Given the description of an element on the screen output the (x, y) to click on. 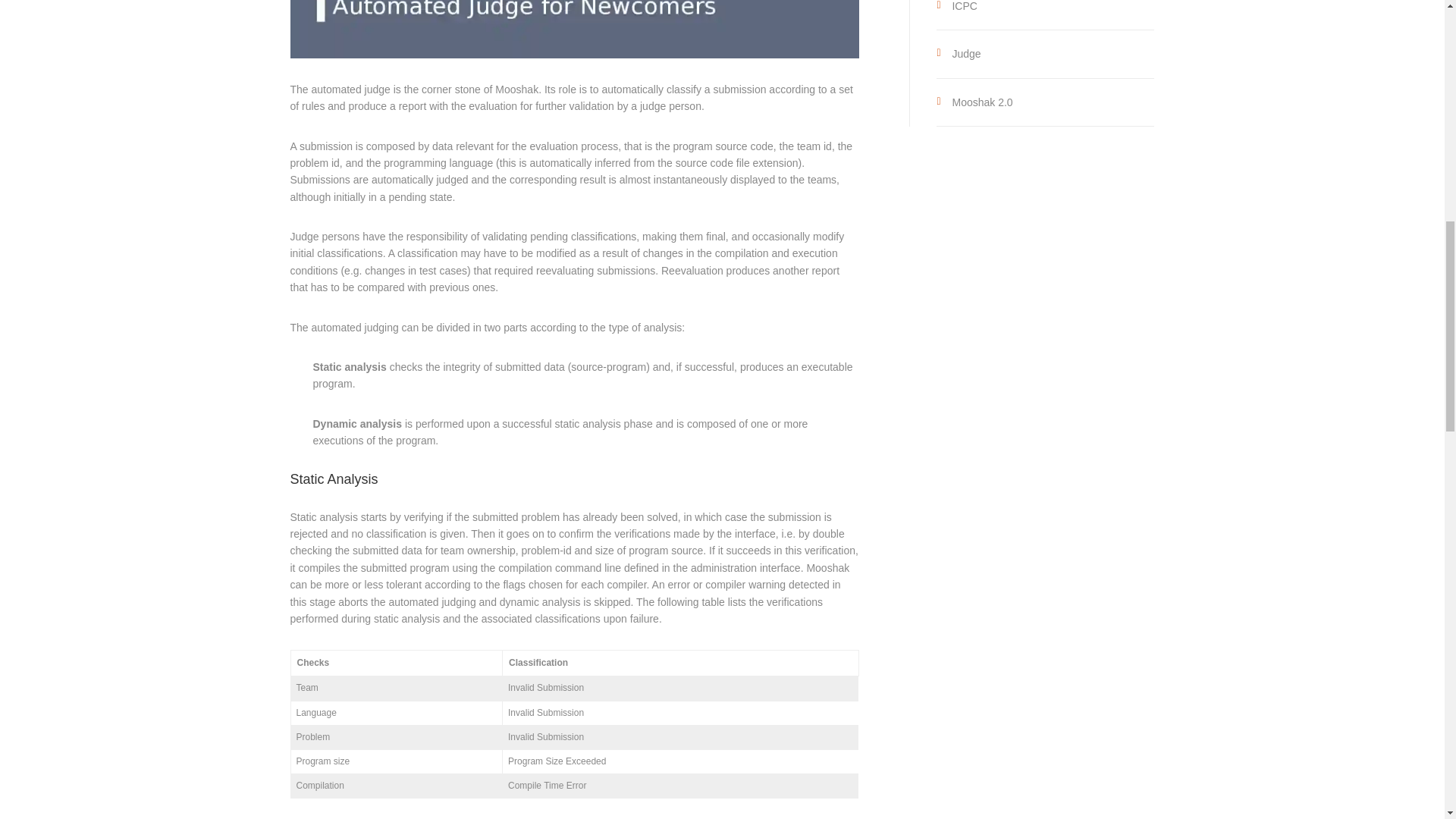
Judge (965, 53)
ICPC (964, 6)
Mooshak 2.0 (981, 102)
